Given the description of an element on the screen output the (x, y) to click on. 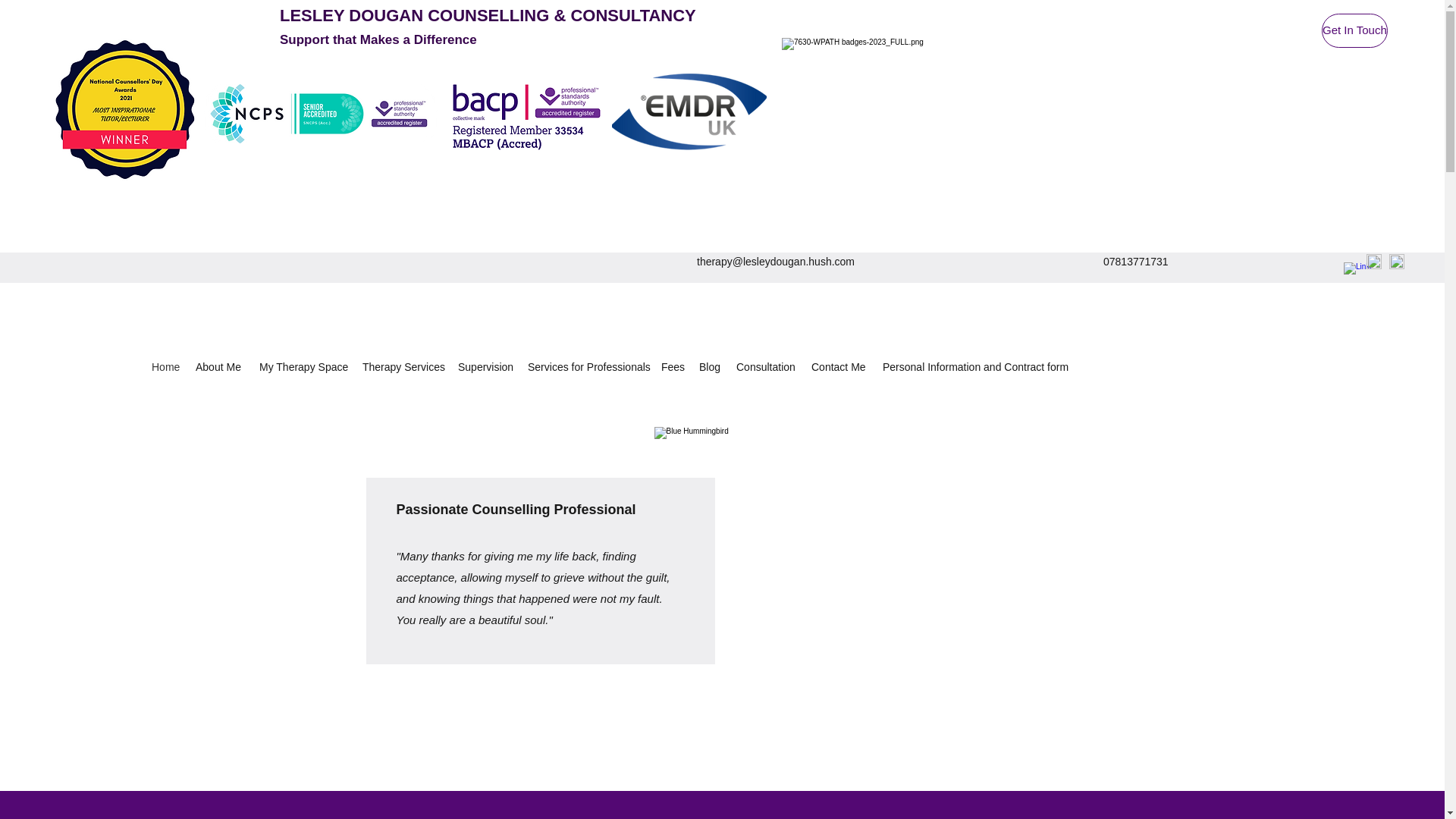
Contact Me (839, 366)
About Me (219, 366)
Therapy Services (402, 366)
My Therapy Space (303, 366)
Consultation (766, 366)
Services for Professionals (586, 366)
Get In Touch (1354, 30)
LDrosette.png (124, 109)
image002.png (853, 109)
Home (165, 366)
